Given the description of an element on the screen output the (x, y) to click on. 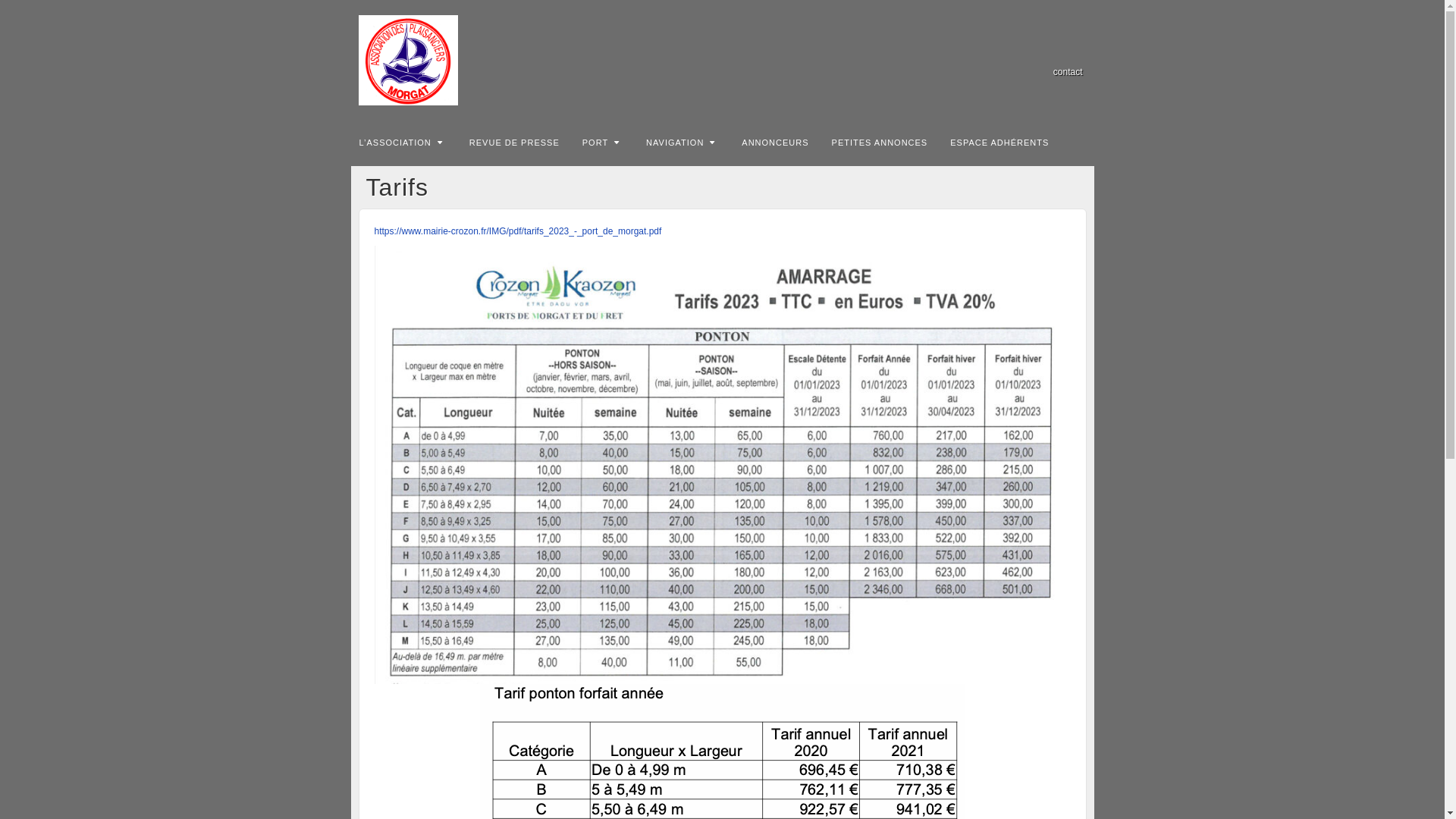
APMorgat Element type: hover (721, 60)
NAVIGATION Element type: text (682, 141)
PORT Element type: text (602, 141)
PETITES ANNONCES Element type: text (879, 141)
Email Element type: text (1050, 50)
RSS Element type: text (1072, 50)
REVUE DE PRESSE Element type: text (514, 141)
ANNONCEURS Element type: text (774, 141)
